Given the description of an element on the screen output the (x, y) to click on. 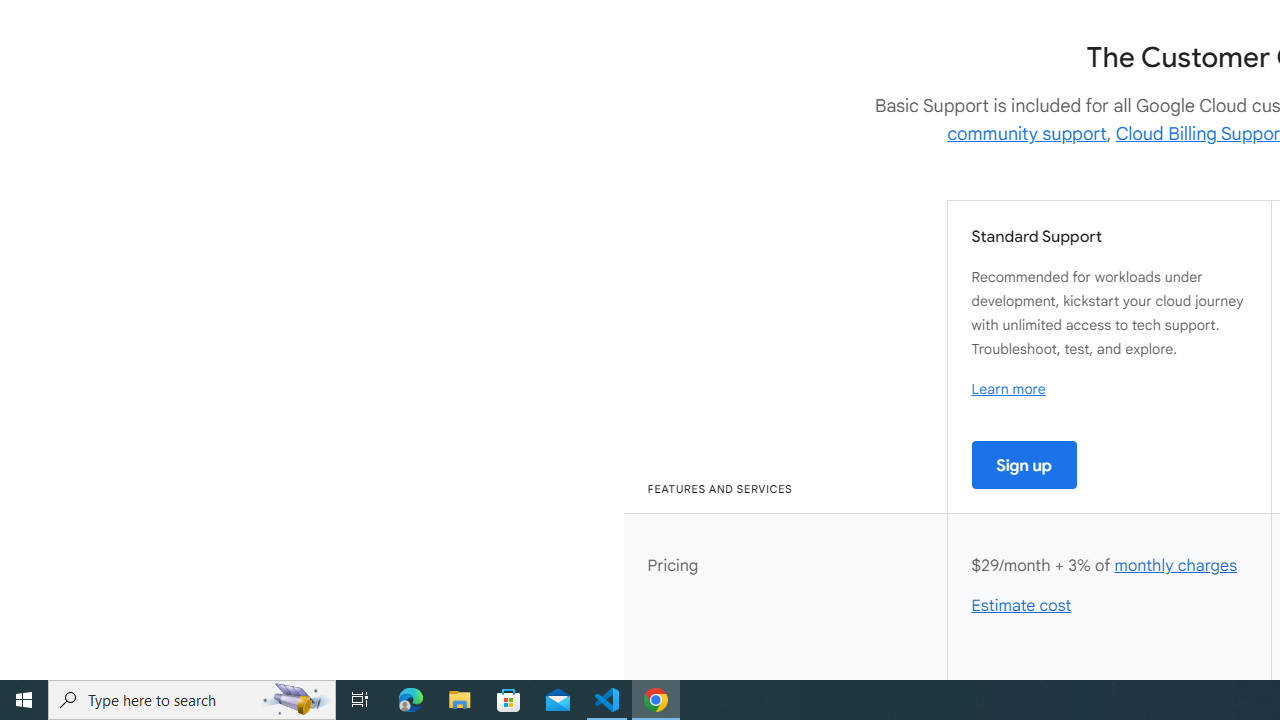
monthly charges (1175, 565)
community support (1027, 133)
Sign up (1023, 464)
Estimate cost (1021, 606)
Learn more (1008, 389)
